Given the description of an element on the screen output the (x, y) to click on. 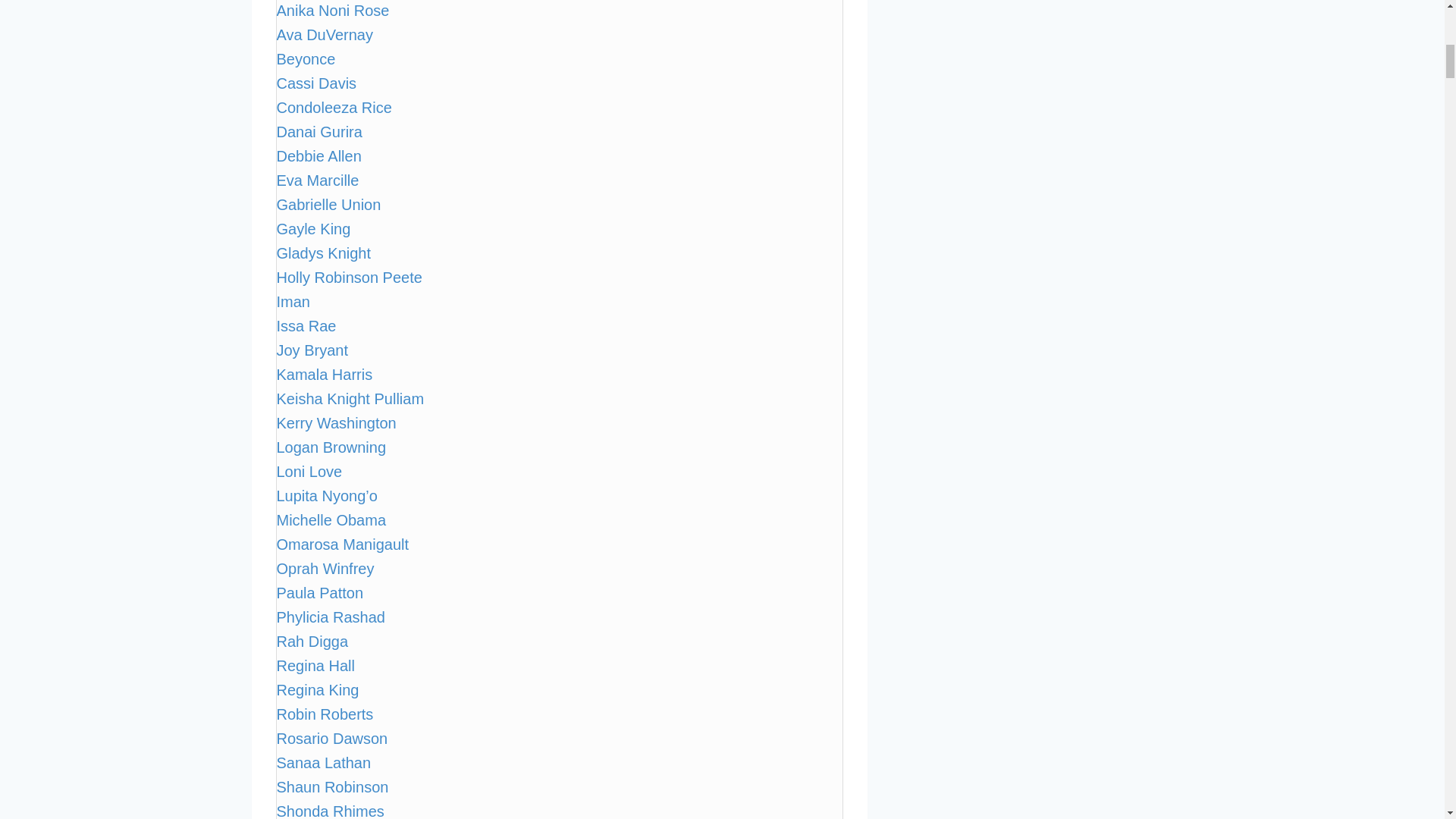
Cassi Davis (316, 83)
Ava DuVernay (324, 34)
Cassi Davis (316, 83)
Debbie Allen (318, 156)
Issa Rae (306, 325)
Gabrielle Union (328, 204)
Debbie Allen (318, 156)
Holly Robinson Peete (349, 277)
Gladys Knight (323, 252)
Anika Noni Rose (332, 10)
Gayle King (313, 228)
Beyonce (305, 58)
Gayle King (313, 228)
Holly Robinson Peete (349, 277)
Condoleeza Rice (333, 107)
